Given the description of an element on the screen output the (x, y) to click on. 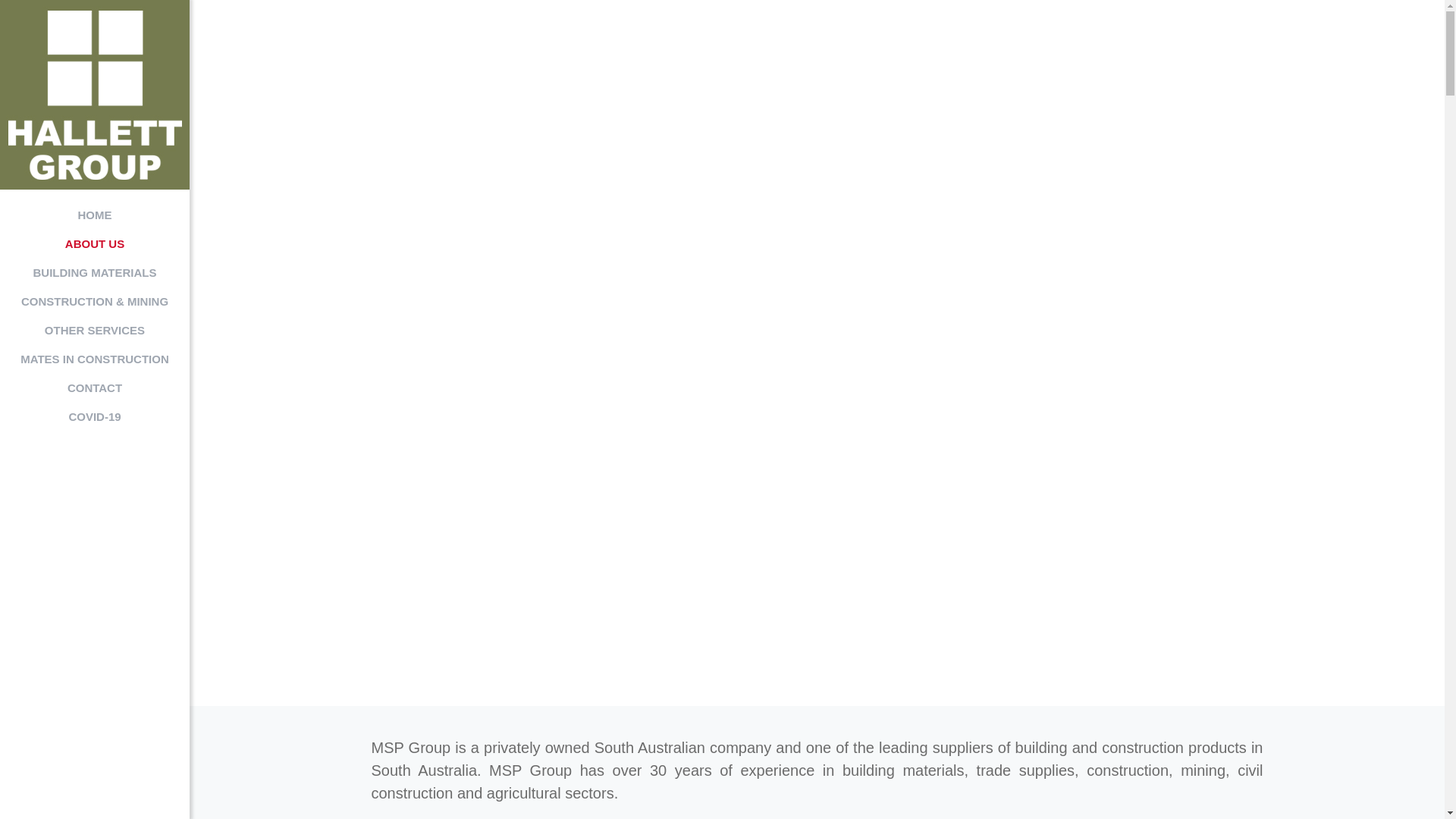
BUILDING MATERIALS Element type: text (94, 272)
HOME Element type: text (94, 214)
CONTACT Element type: text (94, 387)
COVID-19 Element type: text (94, 416)
MATES IN CONSTRUCTION Element type: text (94, 359)
MSP Group Element type: hover (94, 94)
ABOUT US Element type: text (94, 243)
OTHER SERVICES Element type: text (94, 330)
CONSTRUCTION & MINING Element type: text (94, 301)
